Given the description of an element on the screen output the (x, y) to click on. 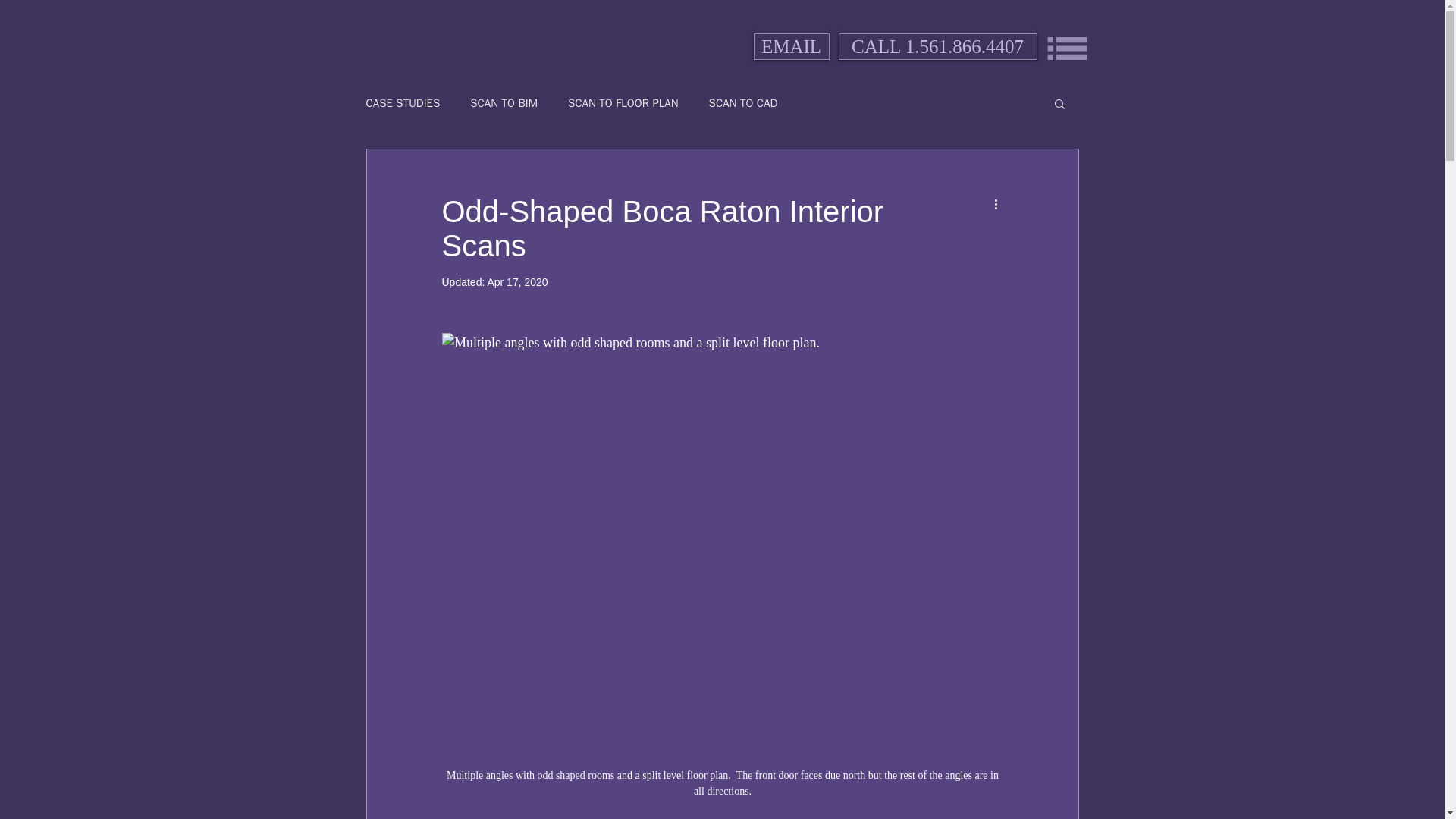
Apr 17, 2020 (516, 282)
SCAN TO BIM (503, 102)
CALL 1.561.866.4407 (937, 46)
CASE STUDIES (402, 102)
SCAN TO CAD (743, 102)
EMAIL (791, 46)
SCAN TO FLOOR PLAN (622, 102)
